Given the description of an element on the screen output the (x, y) to click on. 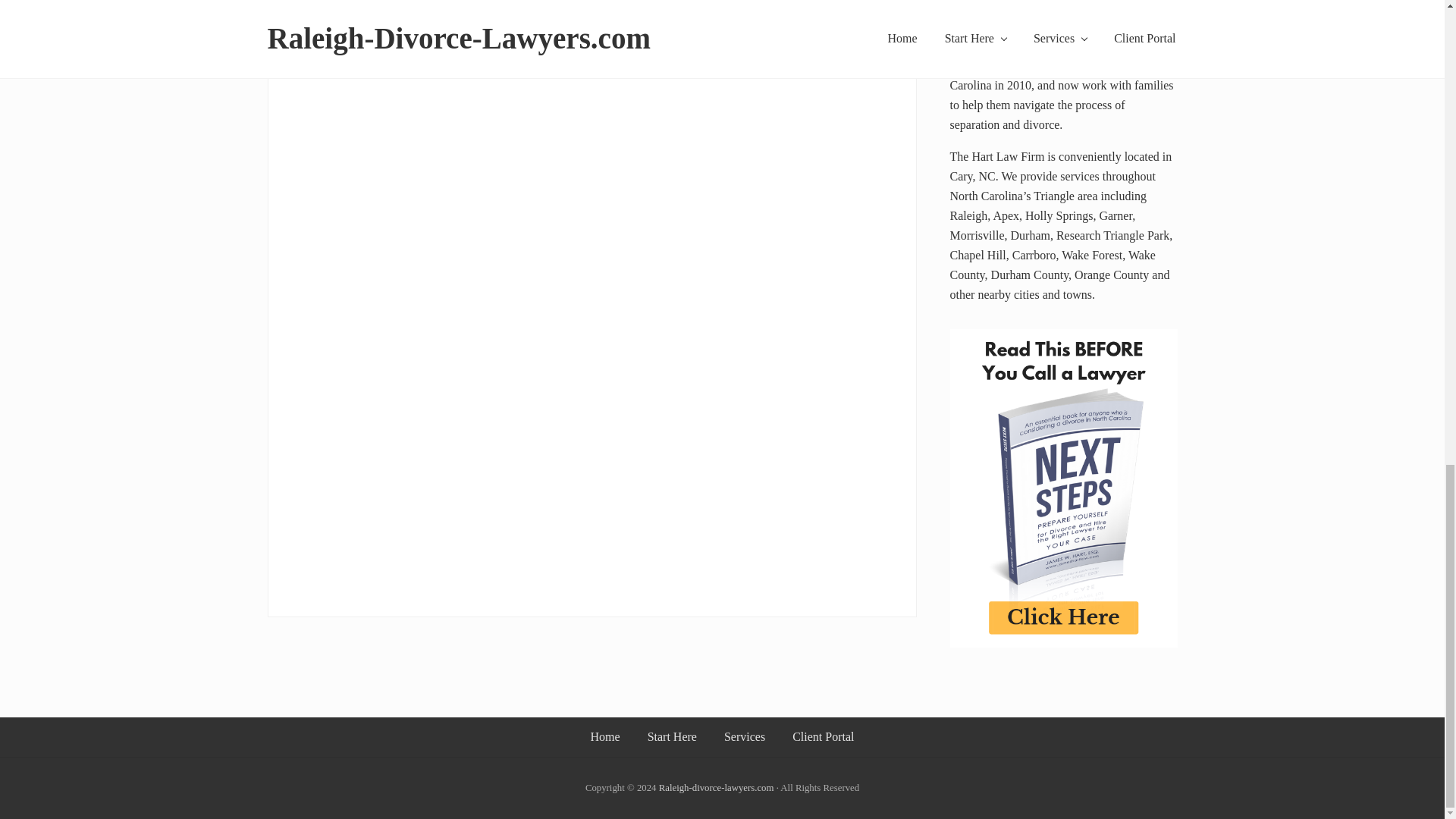
The Hart Law Firm, P.A. (716, 787)
